Given the description of an element on the screen output the (x, y) to click on. 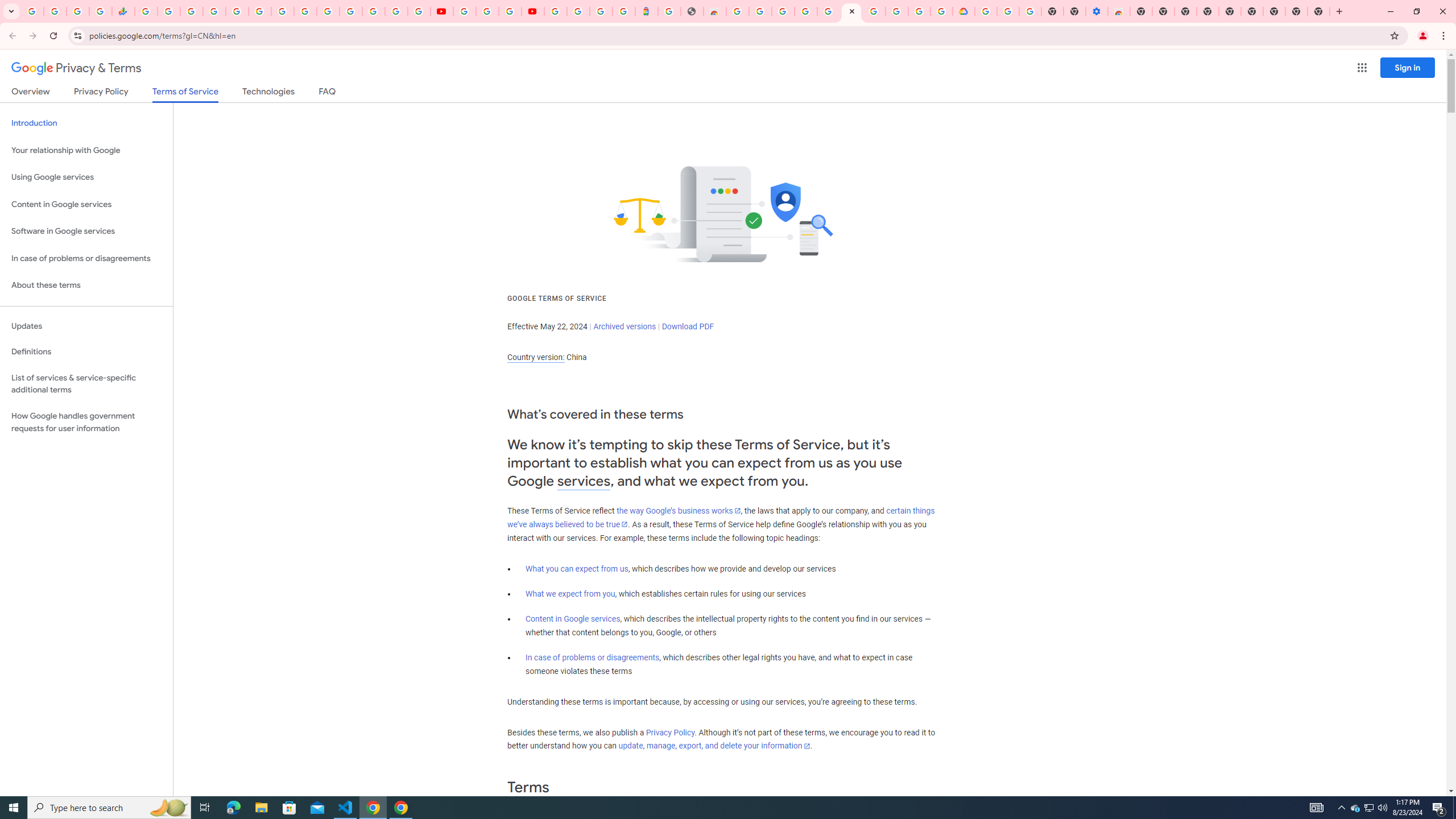
Content Creator Programs & Opportunities - YouTube Creators (532, 11)
Turn cookies on or off - Computer - Google Account Help (1029, 11)
Browse the Google Chrome Community - Google Chrome Community (942, 11)
